Given the description of an element on the screen output the (x, y) to click on. 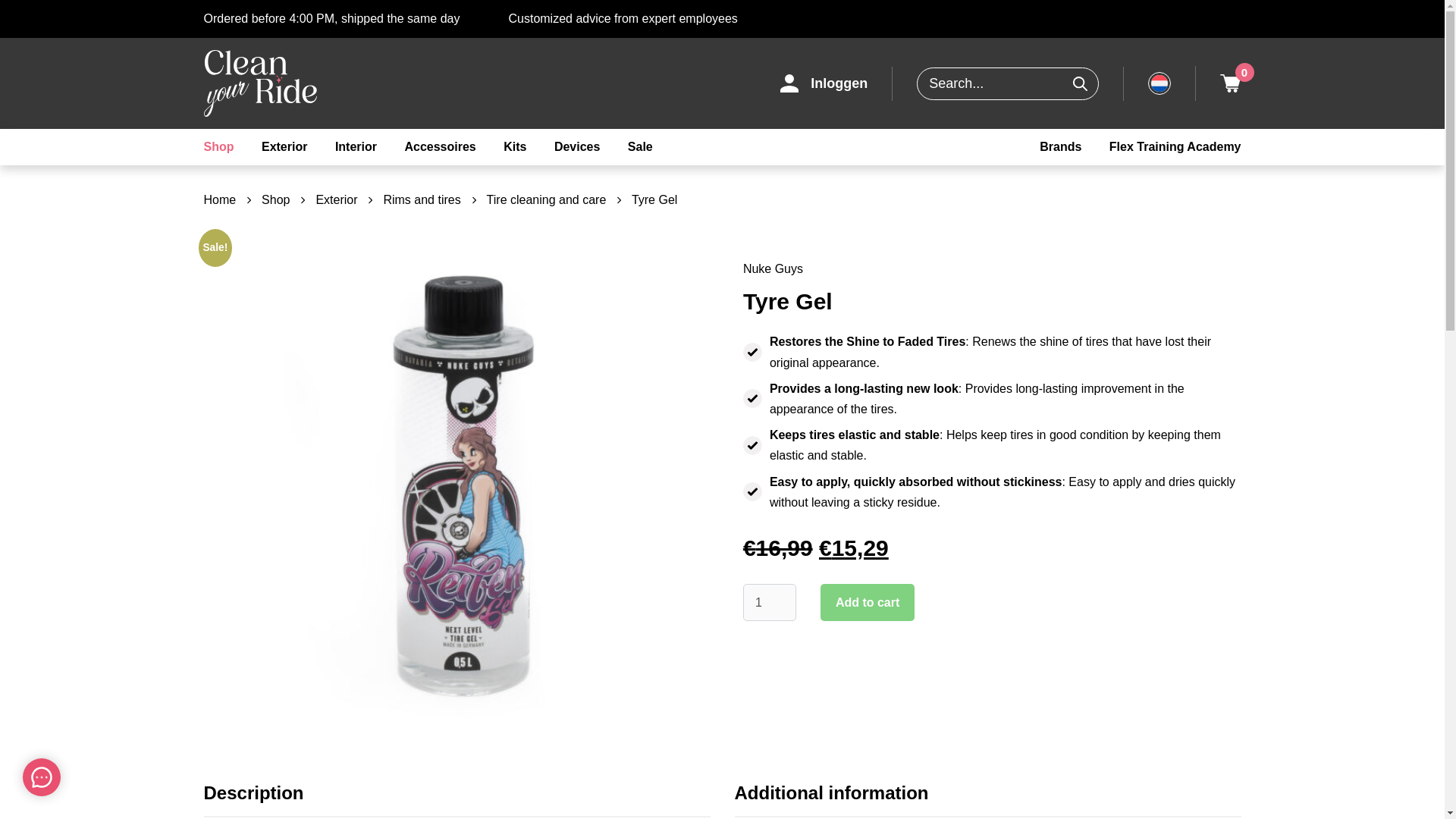
Exterior (283, 146)
1 (769, 601)
0 (1230, 83)
View the shopping cart (1230, 83)
Shop (218, 146)
Brands (1060, 146)
Flex Training Academy (1175, 146)
Kits (515, 146)
Sale (640, 146)
Interior (355, 146)
Devices (576, 146)
Inloggen (823, 83)
Accessoires (439, 146)
